Given the description of an element on the screen output the (x, y) to click on. 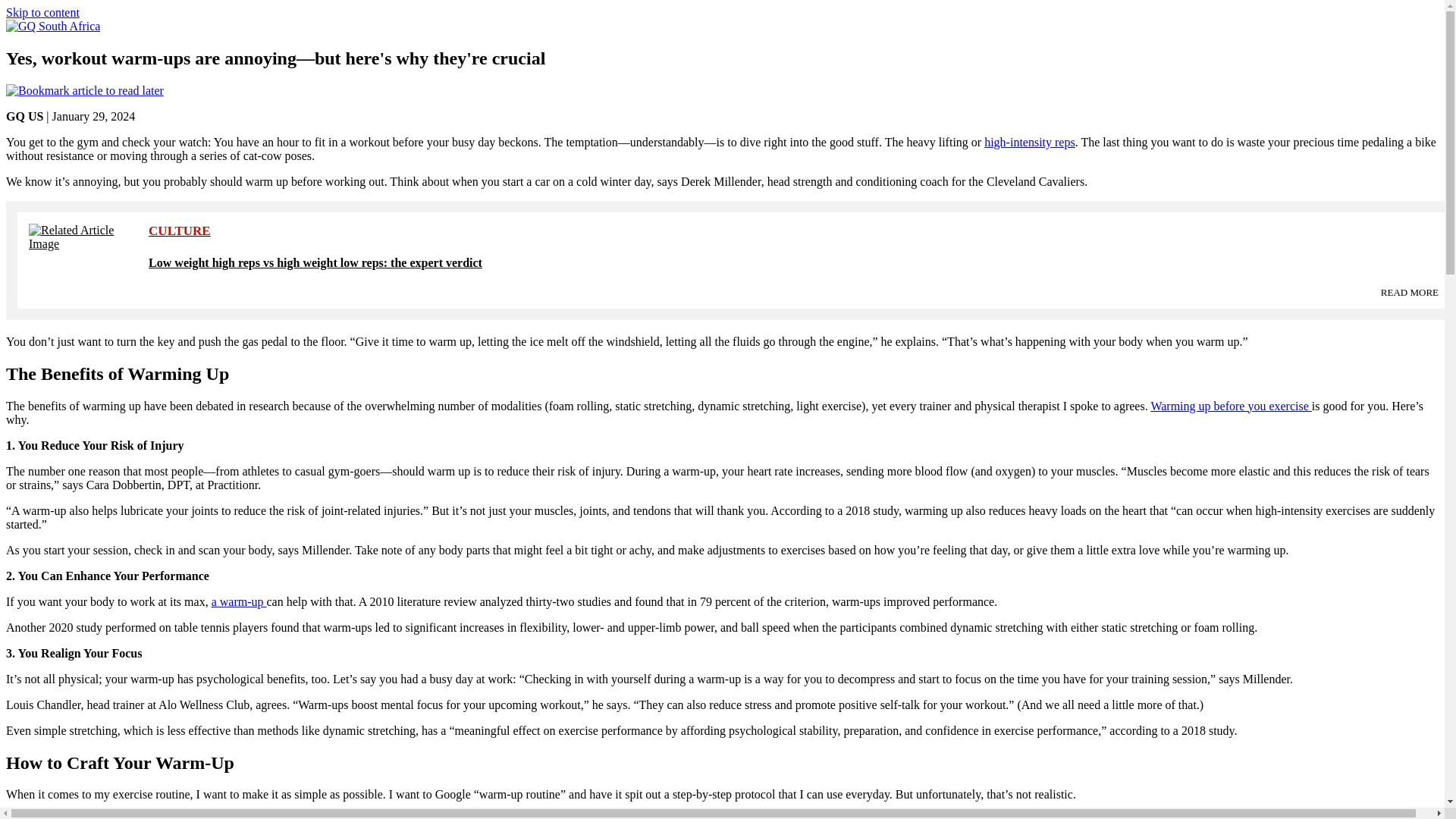
Warming up before you exercise (1230, 405)
Skip to content (42, 11)
a warm-up (238, 601)
high-intensity reps (1029, 141)
